Given the description of an element on the screen output the (x, y) to click on. 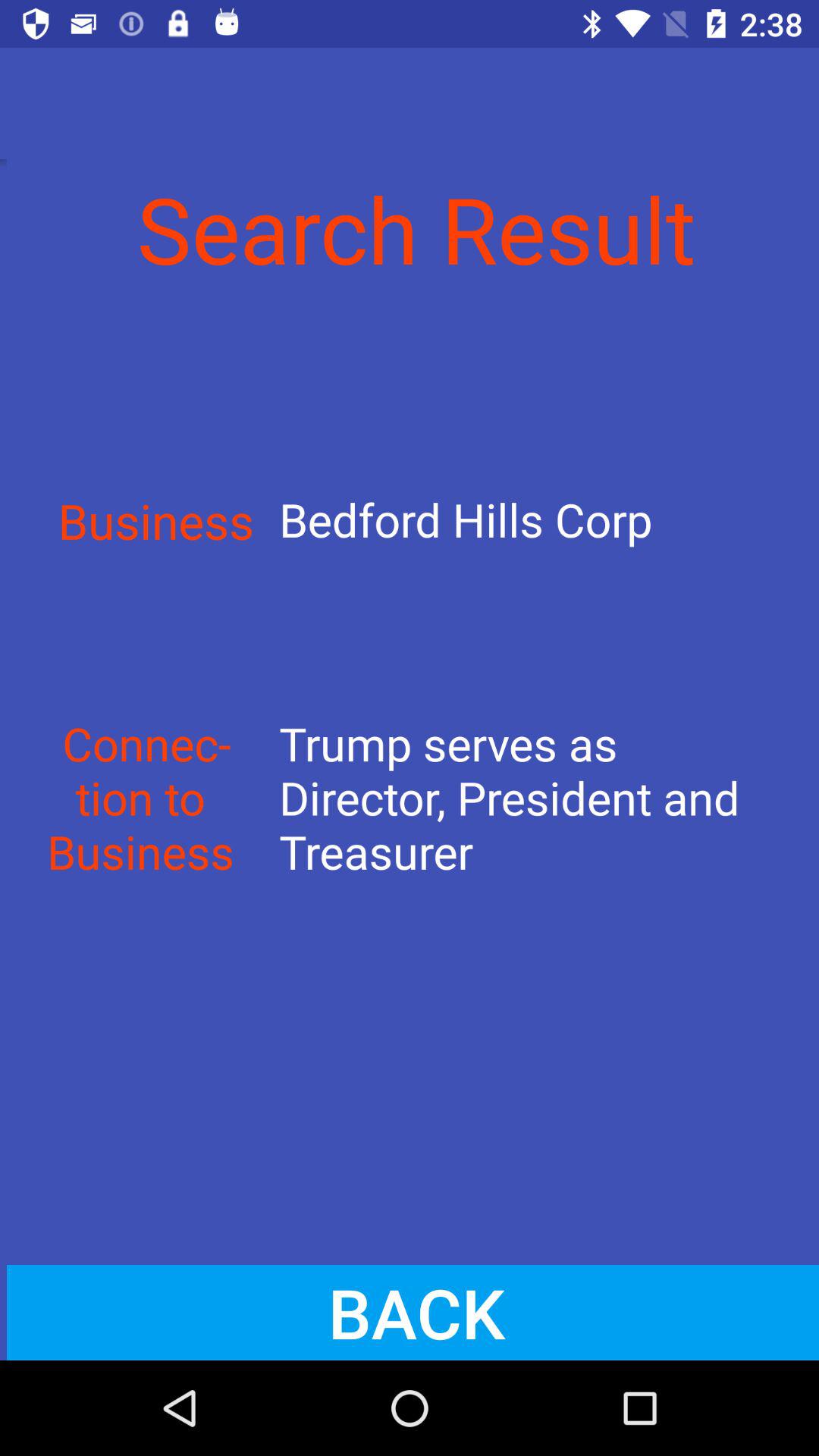
swipe until back button (409, 1312)
